Given the description of an element on the screen output the (x, y) to click on. 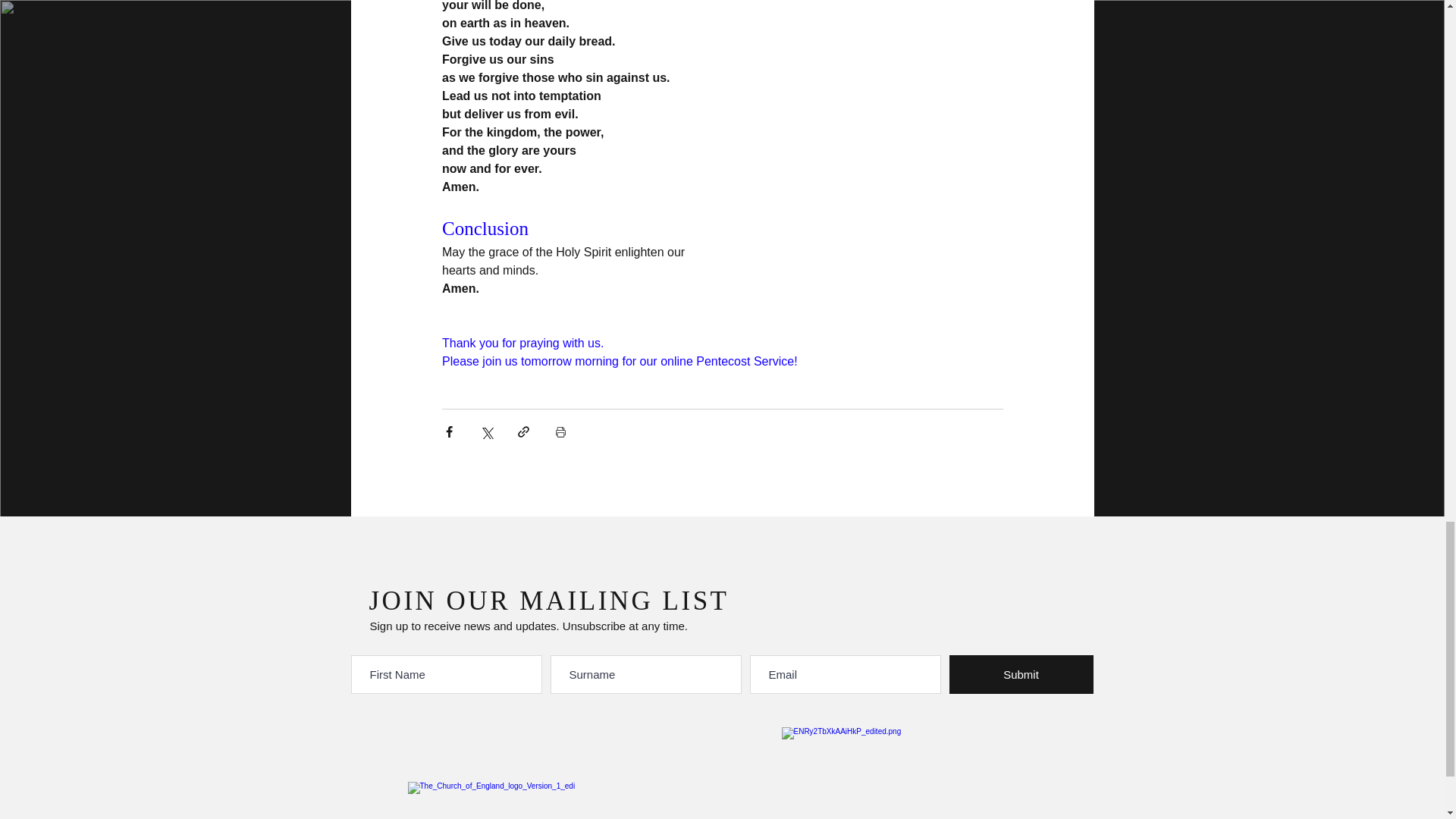
Submit (1021, 674)
